Given the description of an element on the screen output the (x, y) to click on. 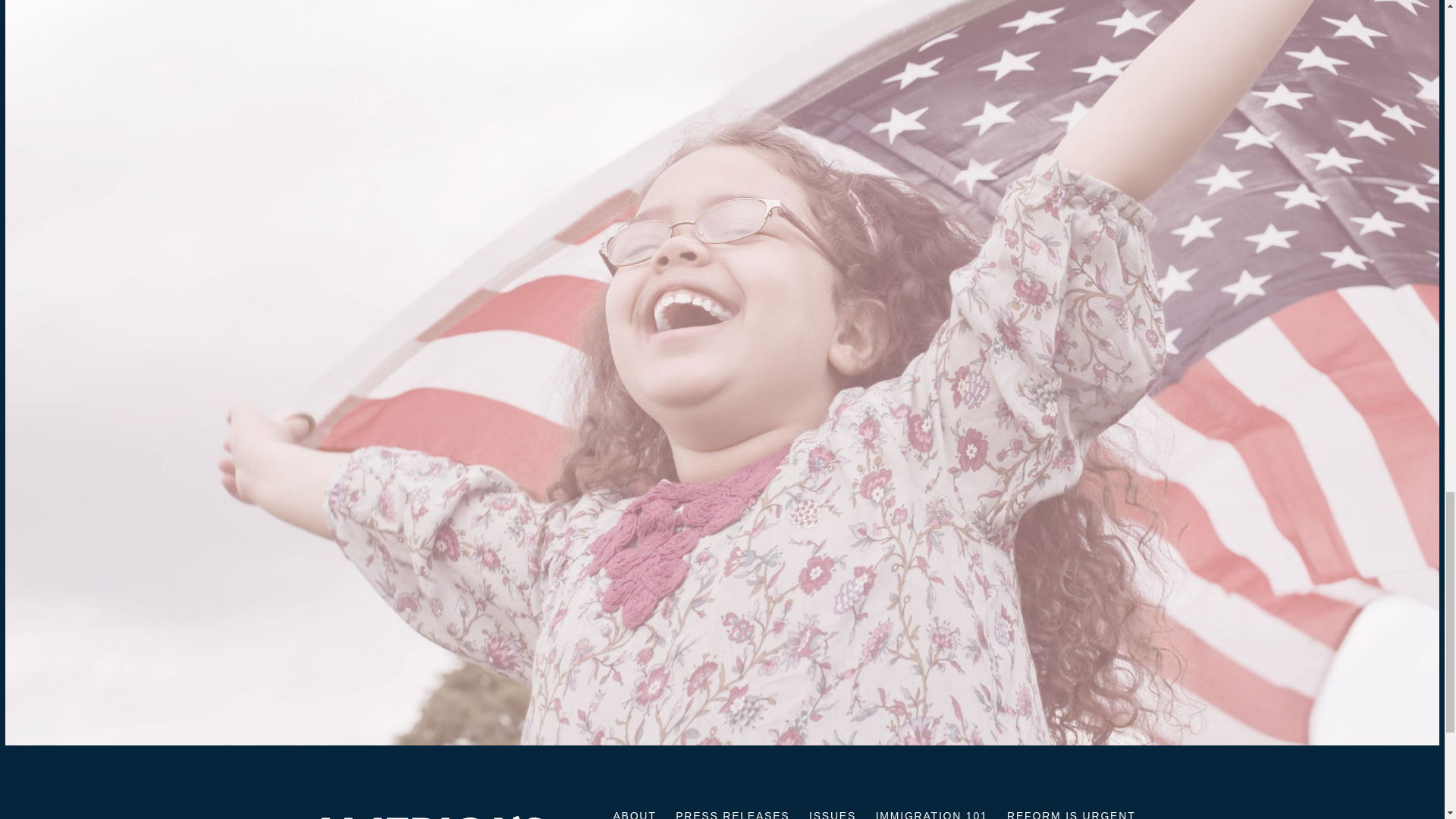
PRESS RELEASES (732, 812)
IMMIGRATION 101 (932, 812)
REFORM IS URGENT (1071, 812)
ABOUT (634, 812)
ISSUES (832, 812)
